Given the description of an element on the screen output the (x, y) to click on. 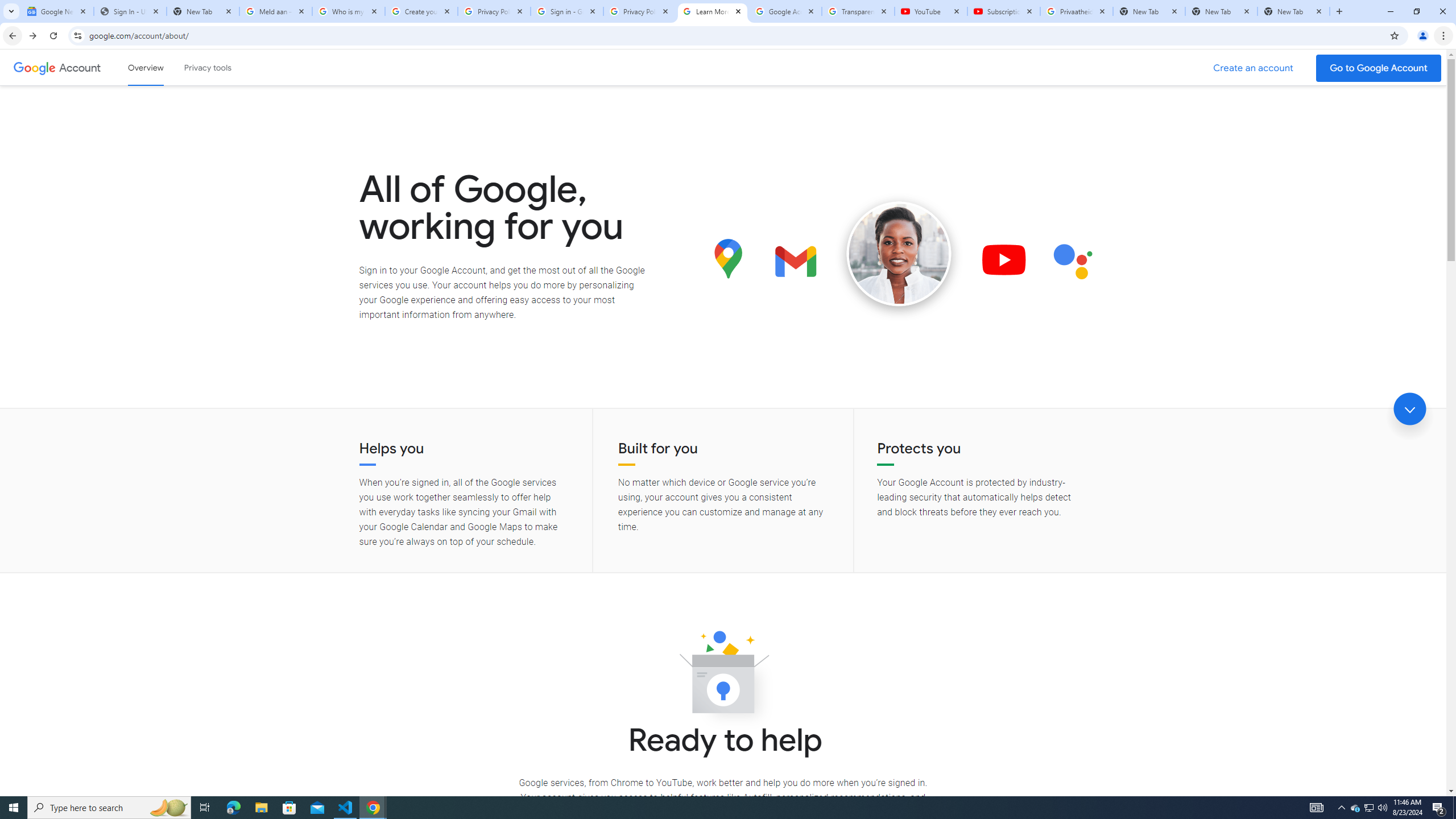
Sign in (1226, 17)
Export (59, 536)
